Given the description of an element on the screen output the (x, y) to click on. 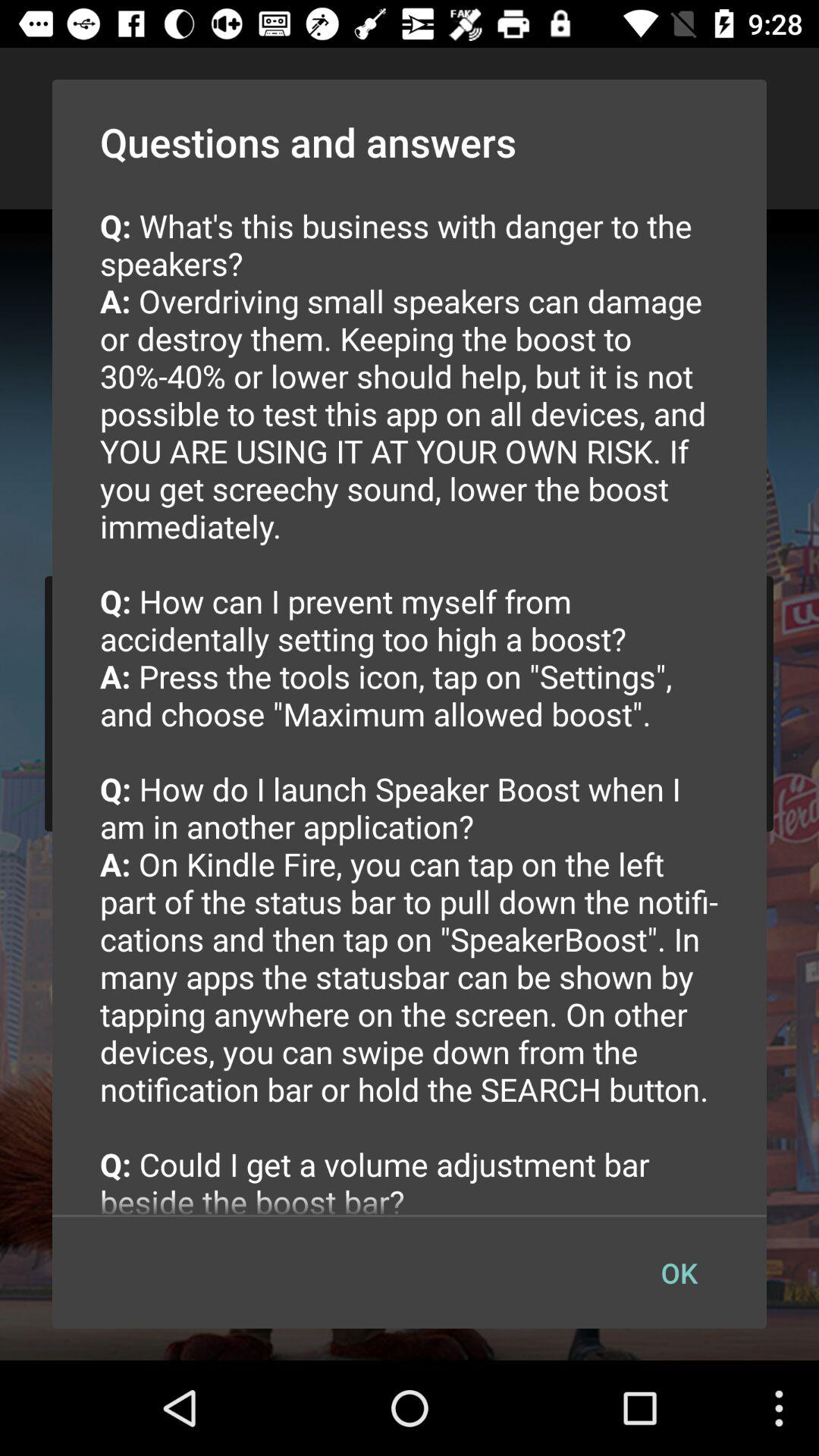
flip until ok button (678, 1272)
